Given the description of an element on the screen output the (x, y) to click on. 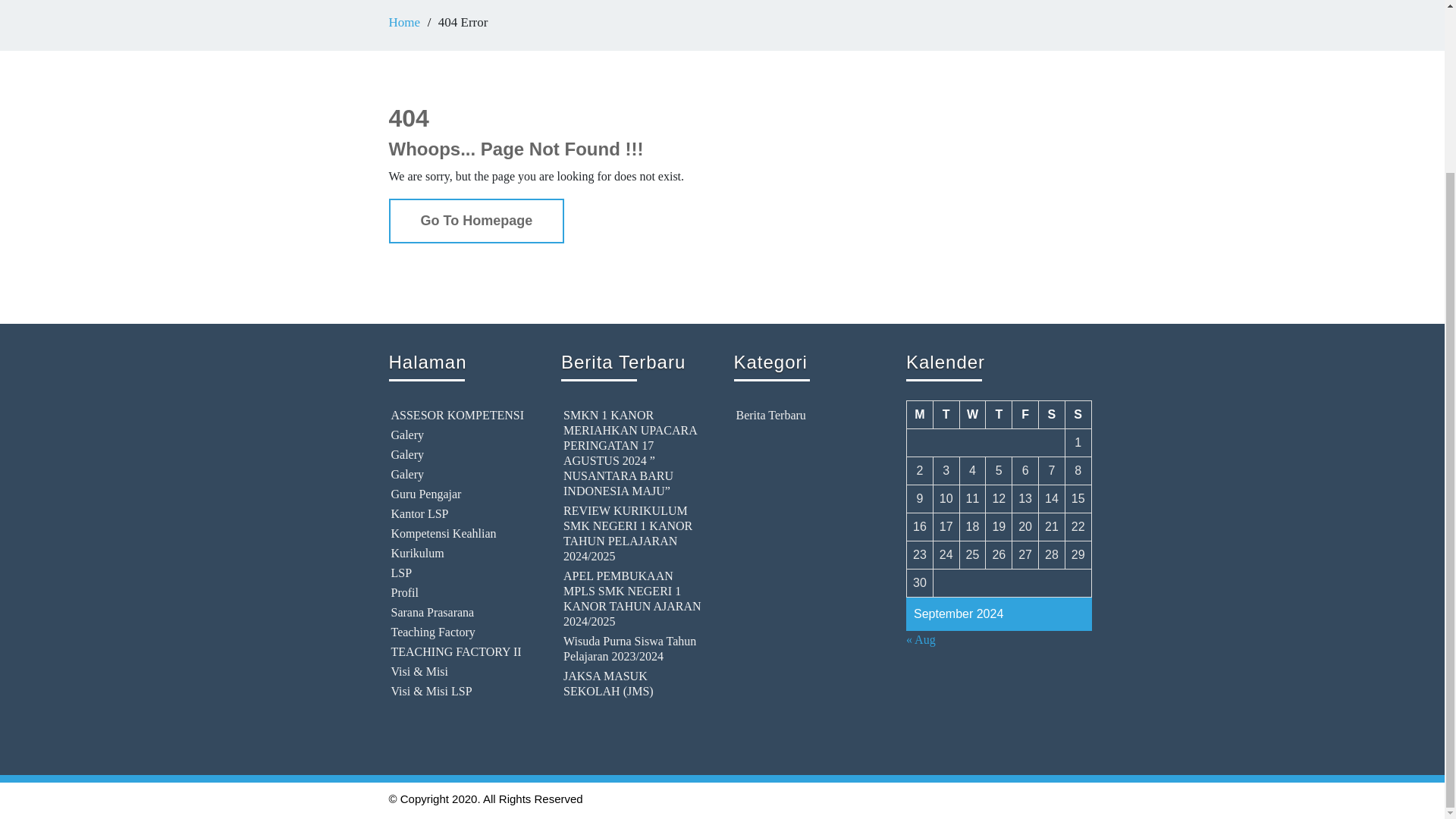
Sarana Prasarana (460, 612)
Profil (460, 592)
Teaching Factory (460, 631)
Kantor LSP (460, 513)
Galery (460, 474)
Home (404, 22)
Go To Homepage (476, 219)
Kurikulum (460, 553)
TEACHING FACTORY II (460, 652)
Galery (460, 454)
